Given the description of an element on the screen output the (x, y) to click on. 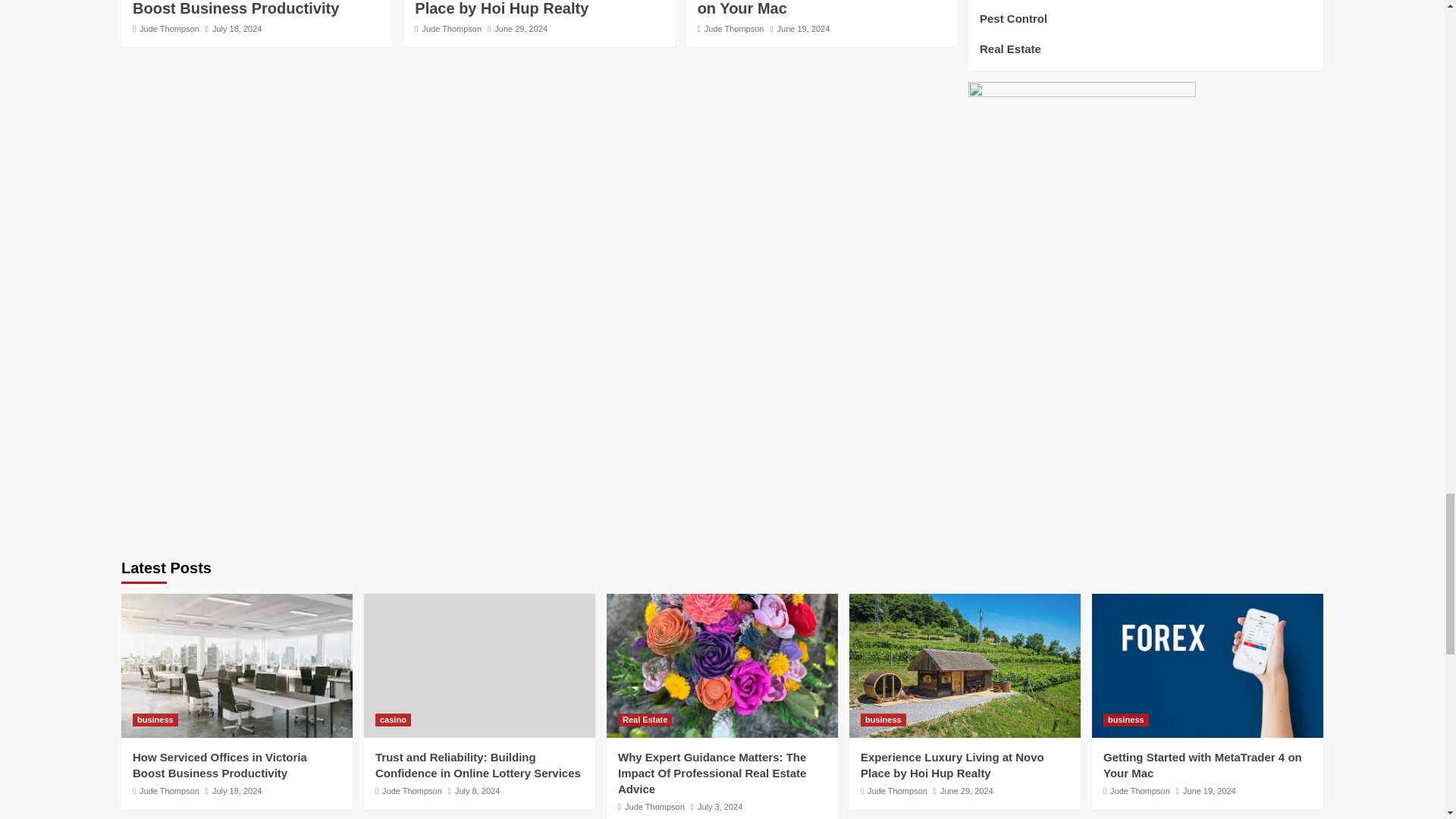
June 29, 2024 (521, 28)
Jude Thompson (169, 28)
June 19, 2024 (803, 28)
Getting Started with MetaTrader 4 on Your Mac (818, 8)
Experience Luxury Living at Novo Place by Hoi Hup Realty (536, 8)
Jude Thompson (451, 28)
July 18, 2024 (237, 28)
How Serviced Offices in Victoria Boost Business Productivity (248, 8)
Jude Thompson (734, 28)
